Given the description of an element on the screen output the (x, y) to click on. 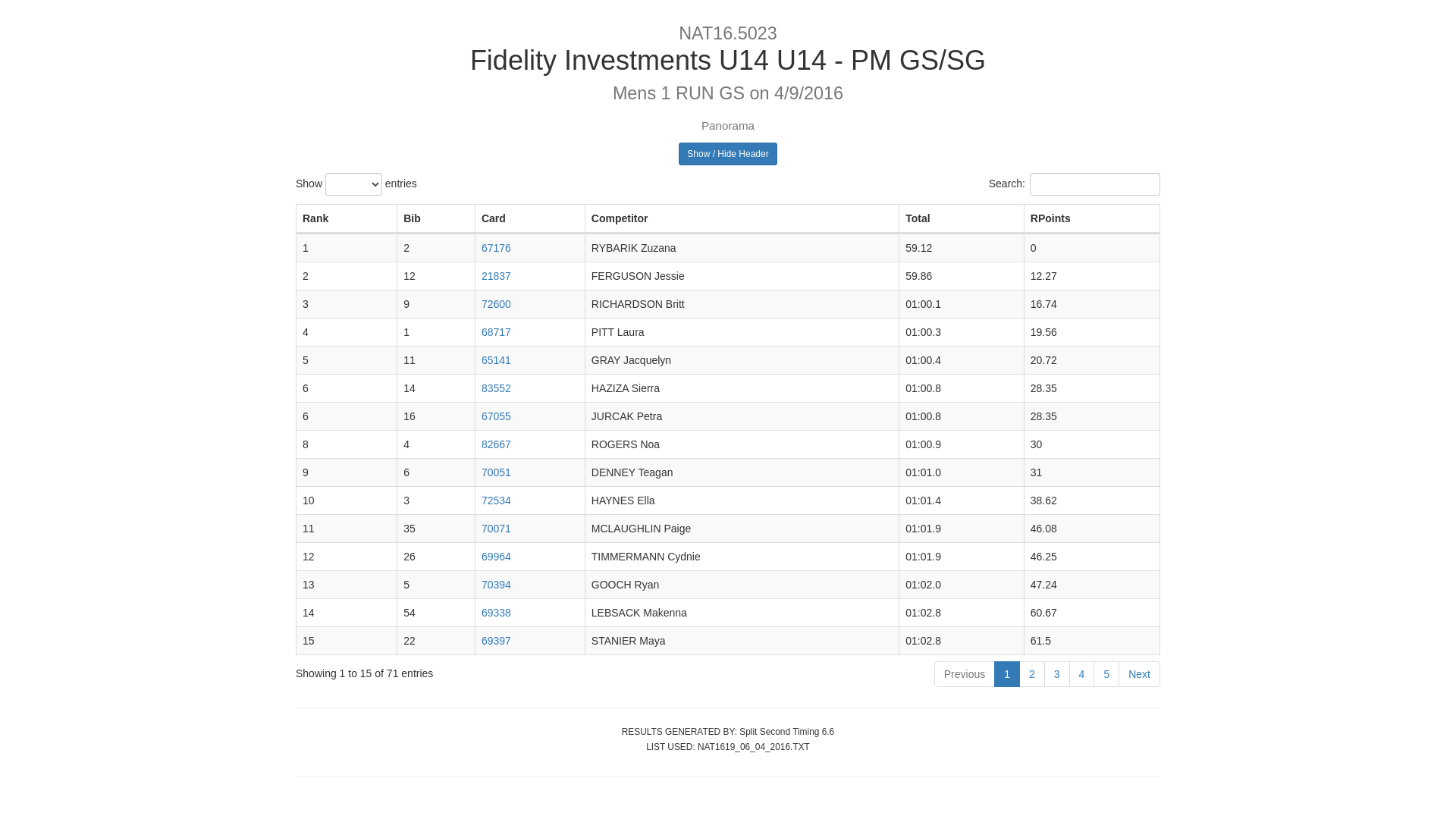
Next Element type: text (1139, 674)
72534 Element type: text (496, 500)
2 Element type: text (1031, 674)
4 Element type: text (1082, 674)
67176 Element type: text (496, 247)
1 Element type: text (1006, 674)
67055 Element type: text (496, 416)
69964 Element type: text (496, 556)
3 Element type: text (1057, 674)
5 Element type: text (1106, 674)
70394 Element type: text (496, 584)
83552 Element type: text (496, 388)
Previous Element type: text (964, 674)
68717 Element type: text (496, 332)
69397 Element type: text (496, 640)
72600 Element type: text (496, 304)
82667 Element type: text (496, 444)
Show / Hide Header Element type: text (727, 153)
65141 Element type: text (496, 360)
70051 Element type: text (496, 472)
69338 Element type: text (496, 612)
21837 Element type: text (496, 275)
70071 Element type: text (496, 528)
